Given the description of an element on the screen output the (x, y) to click on. 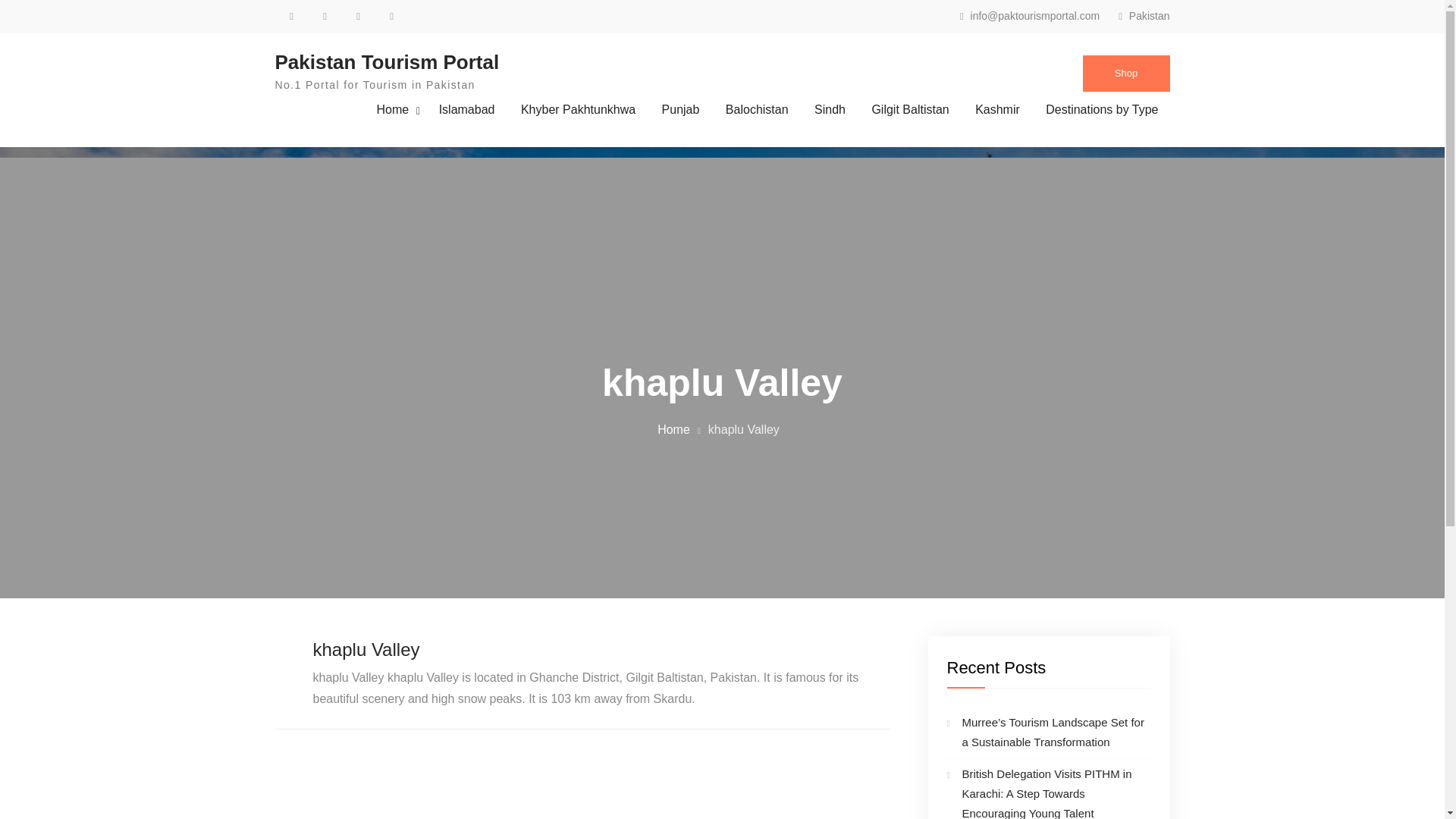
Punjab (680, 109)
Kashmir (996, 109)
Home (395, 109)
Balochistan (756, 109)
Pakistan Tourism Portal (387, 61)
Islamabad (467, 109)
Gilgit Baltistan (909, 109)
Sindh (830, 109)
Destinations by Type (1101, 109)
